Given the description of an element on the screen output the (x, y) to click on. 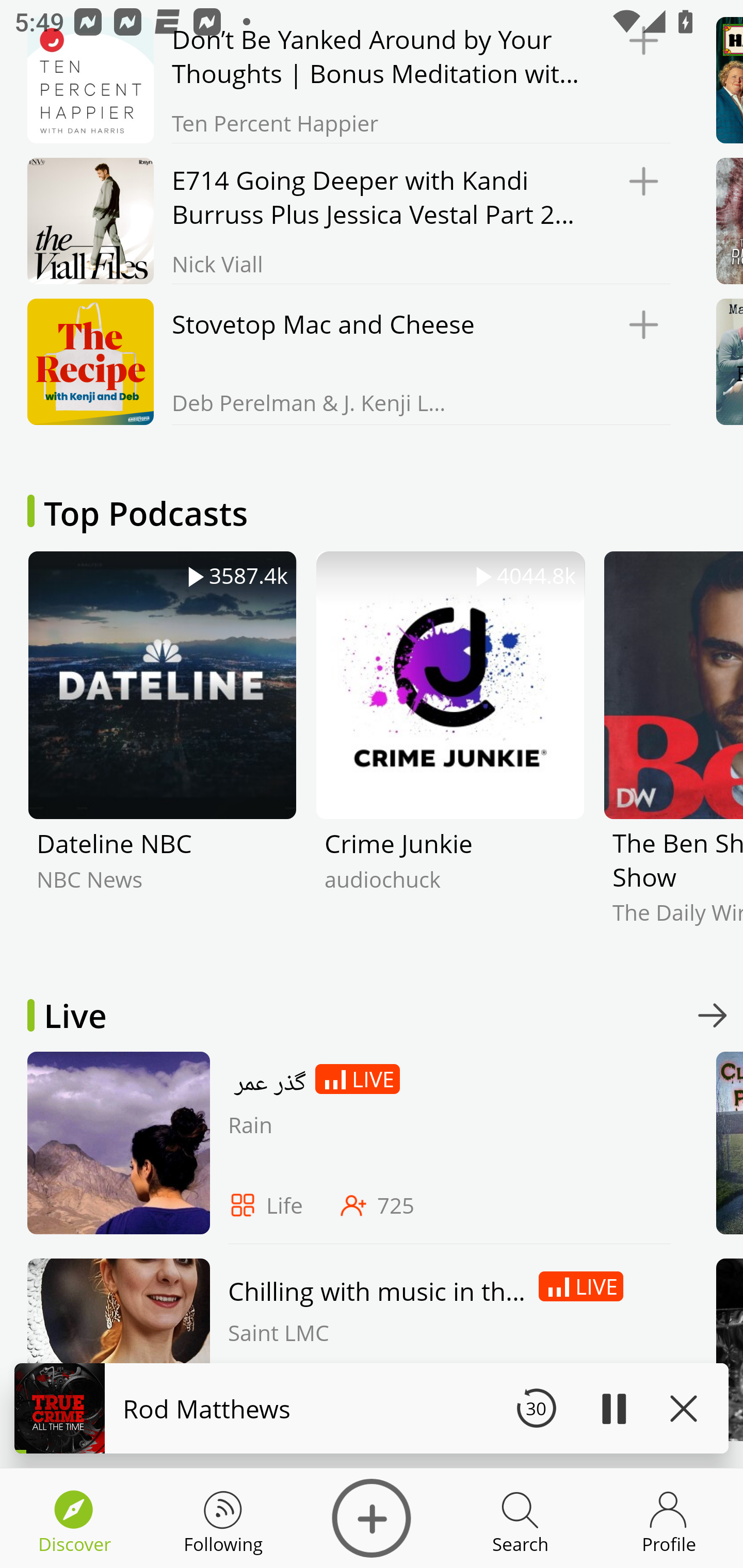
3587.4k Dateline NBC NBC News (162, 753)
4044.8k Crime Junkie audiochuck (450, 753)
The Ben Shapiro Show The Daily Wire (673, 753)
گذر عمر  LIVE Rain Life 725 (344, 1147)
Rod Matthews 30 Seek Backward 79928.0 Play (371, 1407)
Play (613, 1407)
30 Seek Backward (536, 1407)
Discover Following (222, 1518)
Discover (371, 1518)
Discover Search (519, 1518)
Discover Profile (668, 1518)
